Given the description of an element on the screen output the (x, y) to click on. 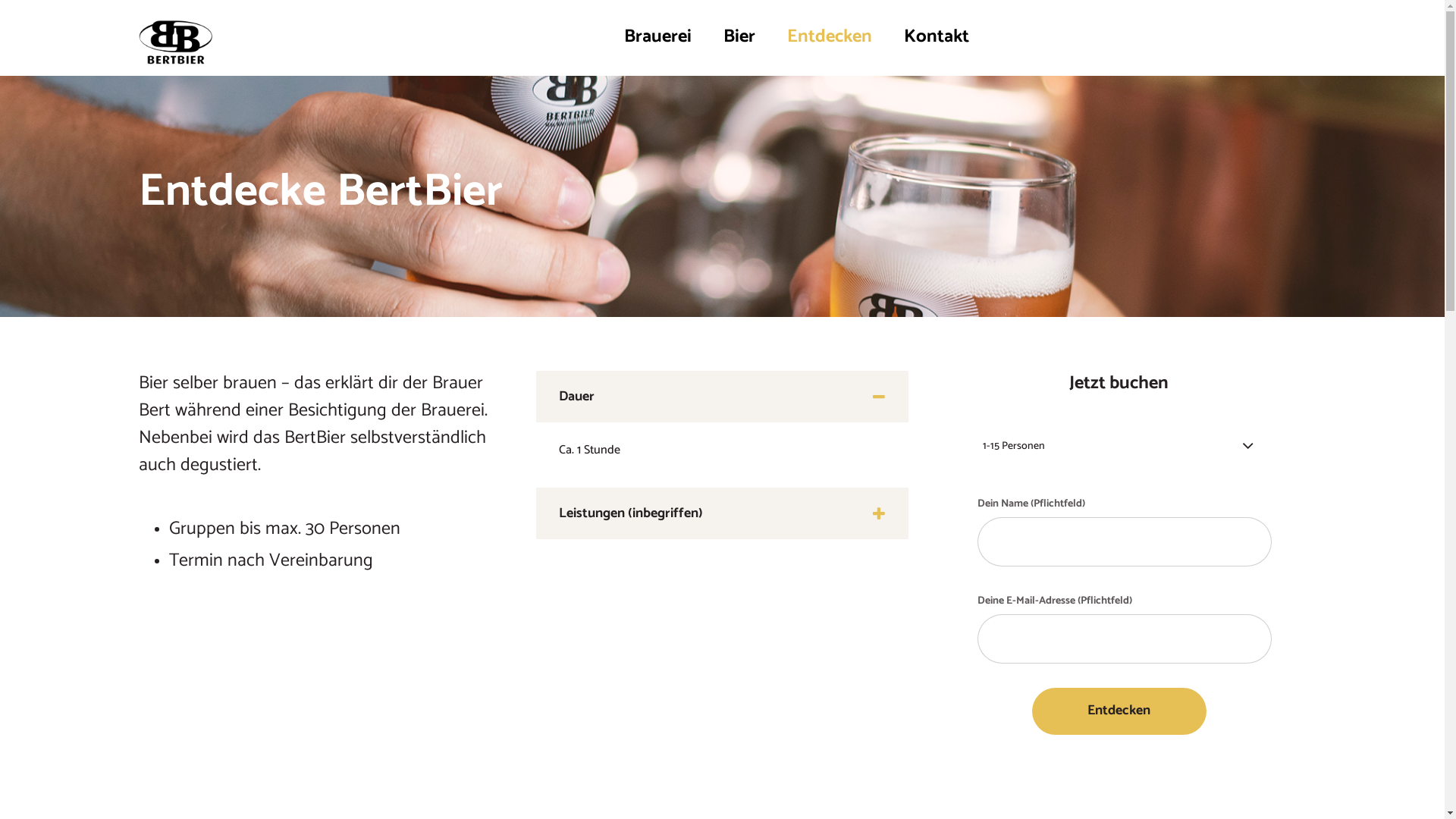
Brauerei Element type: text (657, 36)
Kontakt Element type: text (929, 36)
Dauer Element type: text (722, 396)
Entdecken Element type: text (828, 36)
Bier Element type: text (738, 36)
Entdecken Element type: text (1119, 710)
Leistungen (inbegriffen) Element type: text (722, 513)
